Given the description of an element on the screen output the (x, y) to click on. 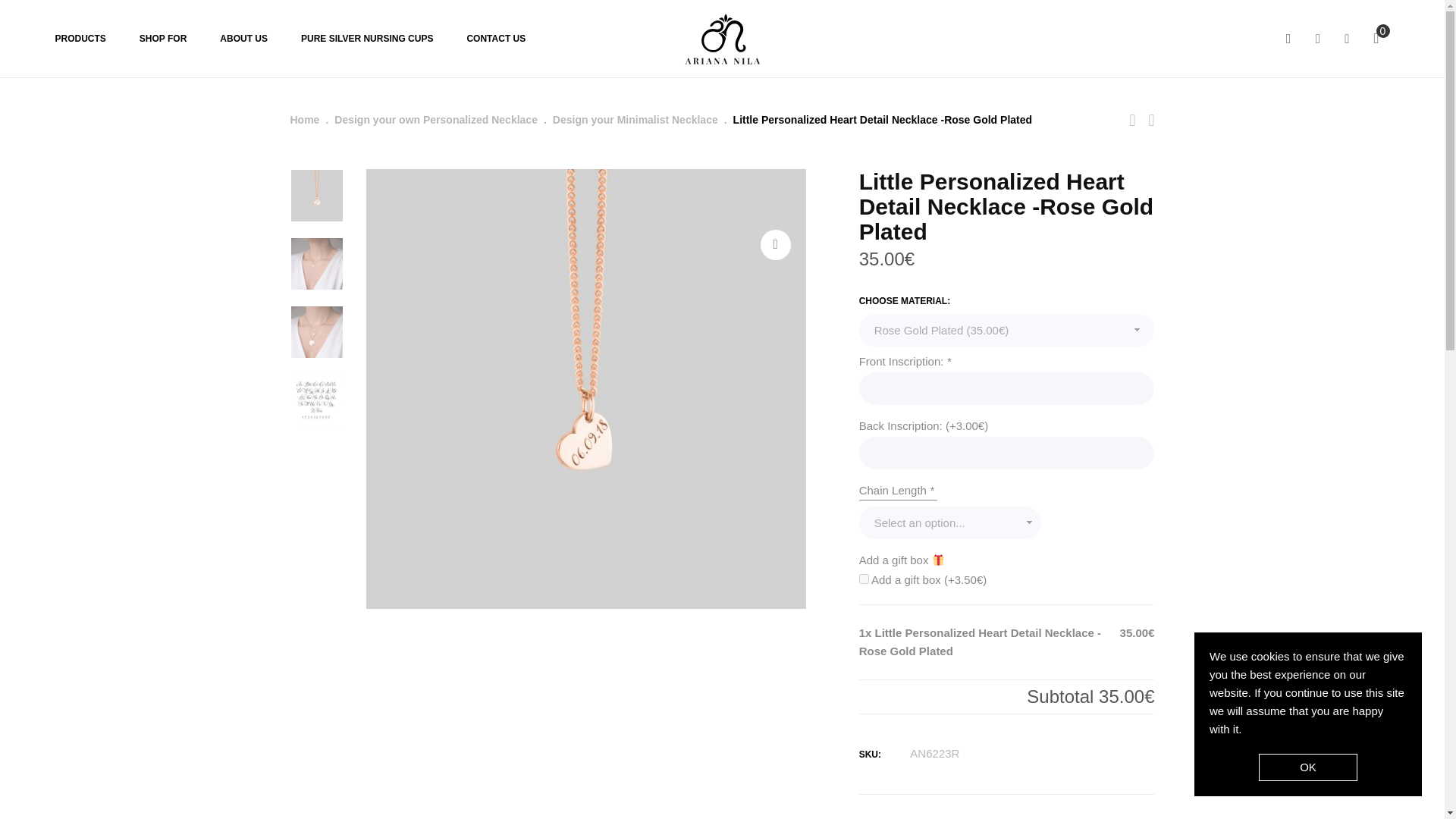
add-a-gift-box (864, 578)
